Given the description of an element on the screen output the (x, y) to click on. 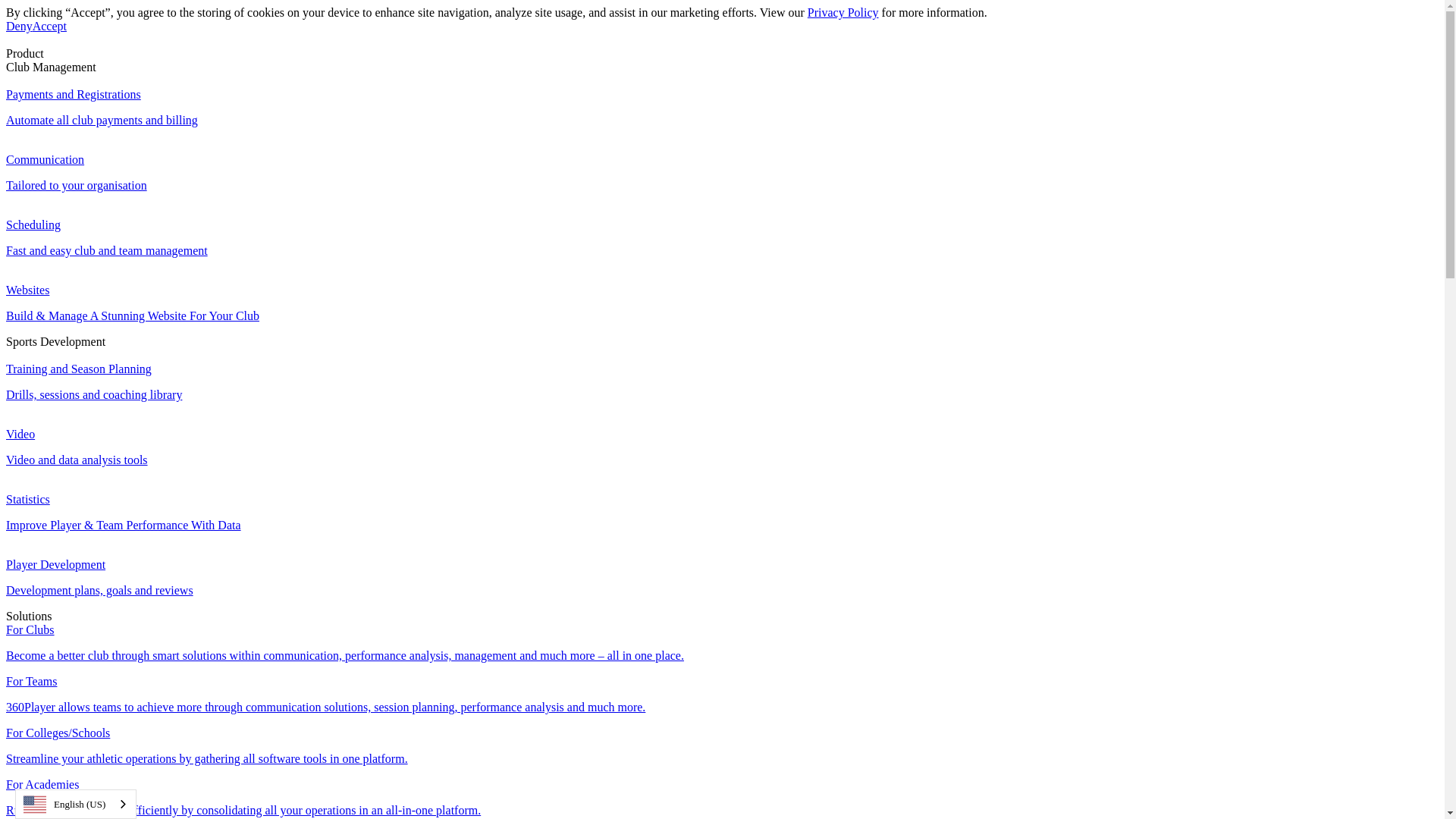
Video
Video and data analysis tools Element type: text (722, 440)
Statistics
Improve Player & Team Performance With Data Element type: text (722, 505)
English (US) Element type: text (75, 804)
Player Development
Development plans, goals and reviews Element type: text (722, 570)
Websites
Build & Manage A Stunning Website For Your Club Element type: text (722, 296)
Communication
Tailored to your organisation Element type: text (722, 165)
Privacy Policy Element type: text (842, 12)
Scheduling
Fast and easy club and team management Element type: text (722, 230)
Accept Element type: text (49, 25)
Deny Element type: text (19, 25)
